Given the description of an element on the screen output the (x, y) to click on. 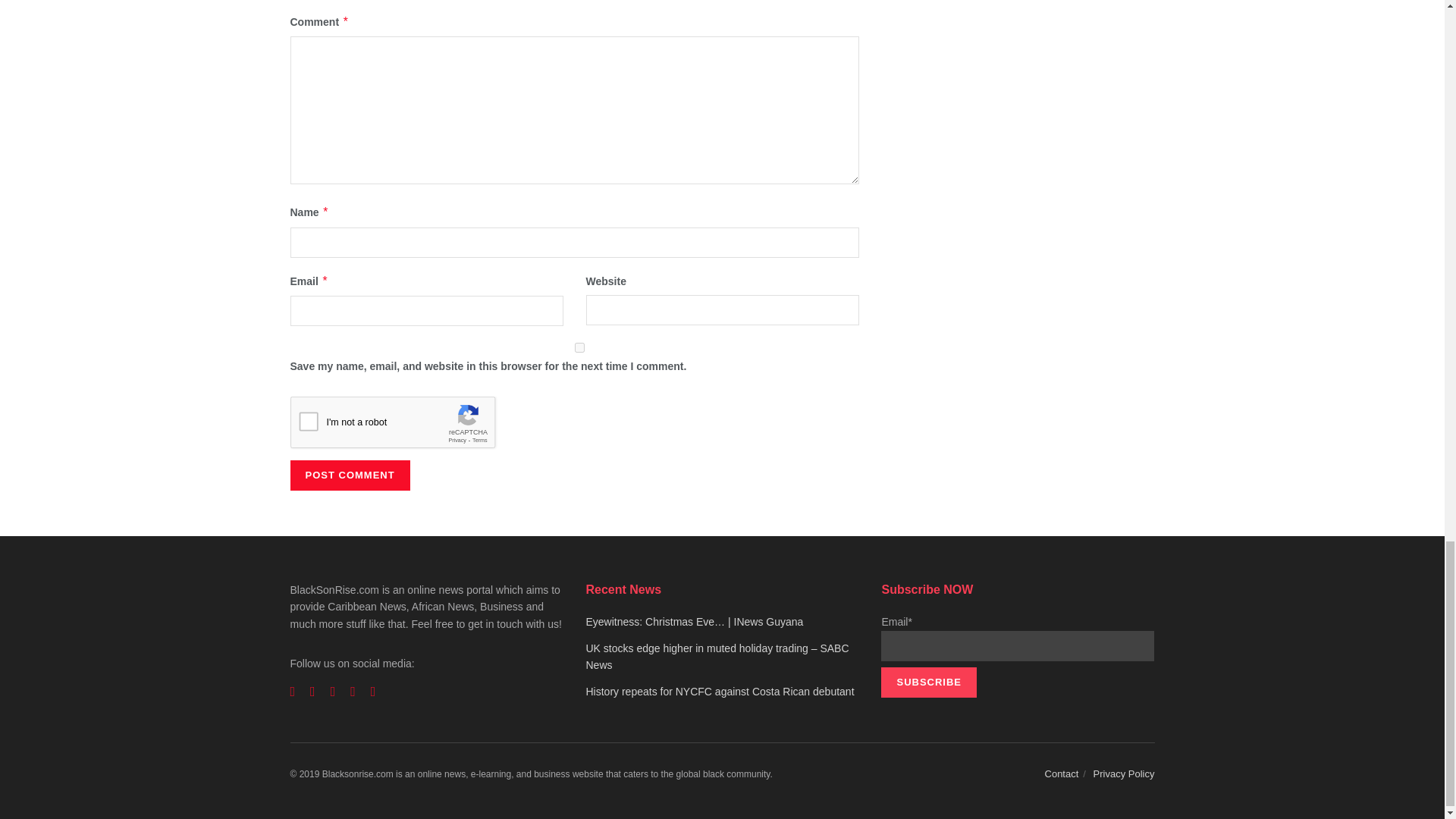
Subscribe (928, 682)
Post Comment (349, 475)
reCAPTCHA (404, 425)
yes (580, 347)
